Given the description of an element on the screen output the (x, y) to click on. 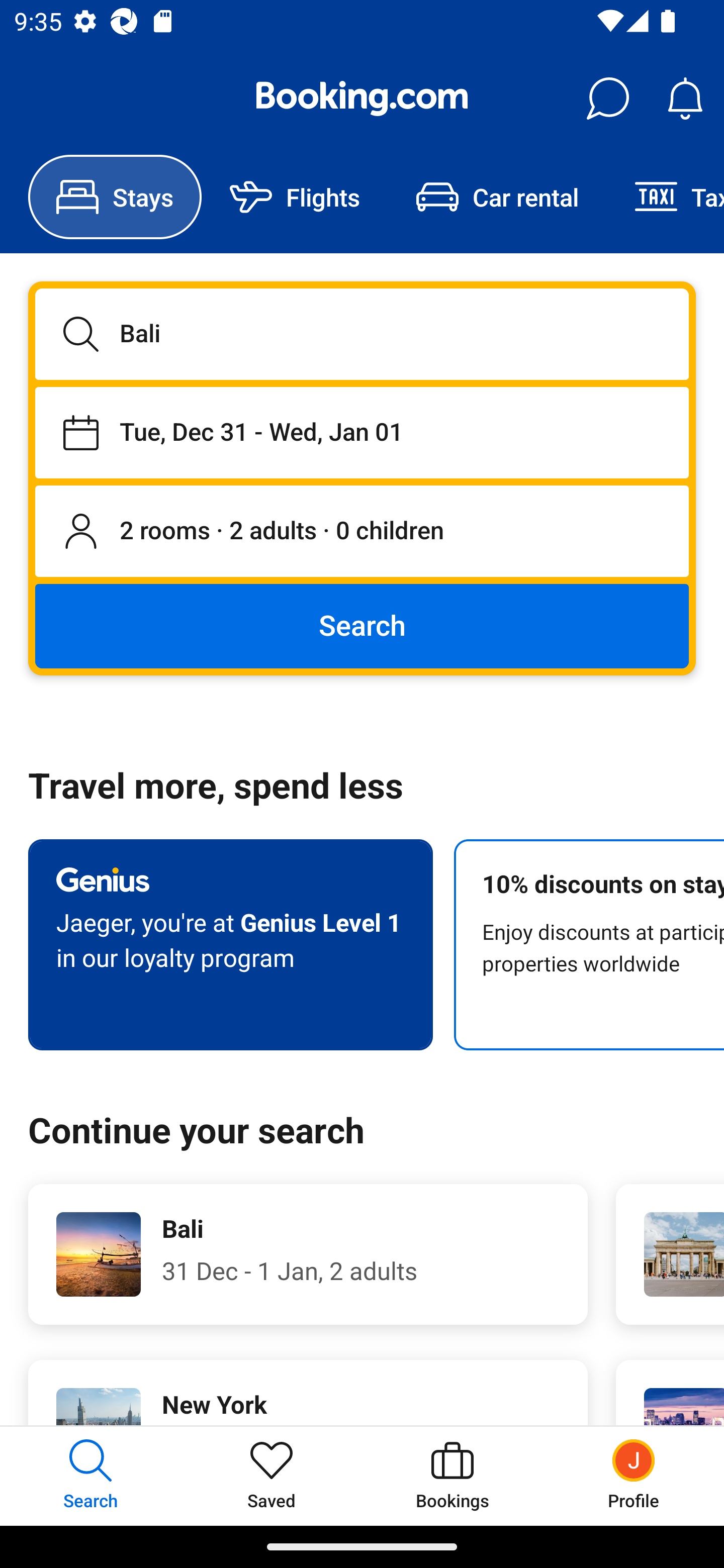
Messages (607, 98)
Notifications (685, 98)
Stays (114, 197)
Flights (294, 197)
Car rental (497, 197)
Taxi (665, 197)
Bali (361, 333)
Staying from Tue, Dec 31 until Wed, Jan 01 (361, 432)
2 rooms, 2 adults, 0 children (361, 531)
Search (361, 625)
Bali 31 Dec - 1 Jan, 2 adults (307, 1253)
Saved (271, 1475)
Bookings (452, 1475)
Profile (633, 1475)
